Given the description of an element on the screen output the (x, y) to click on. 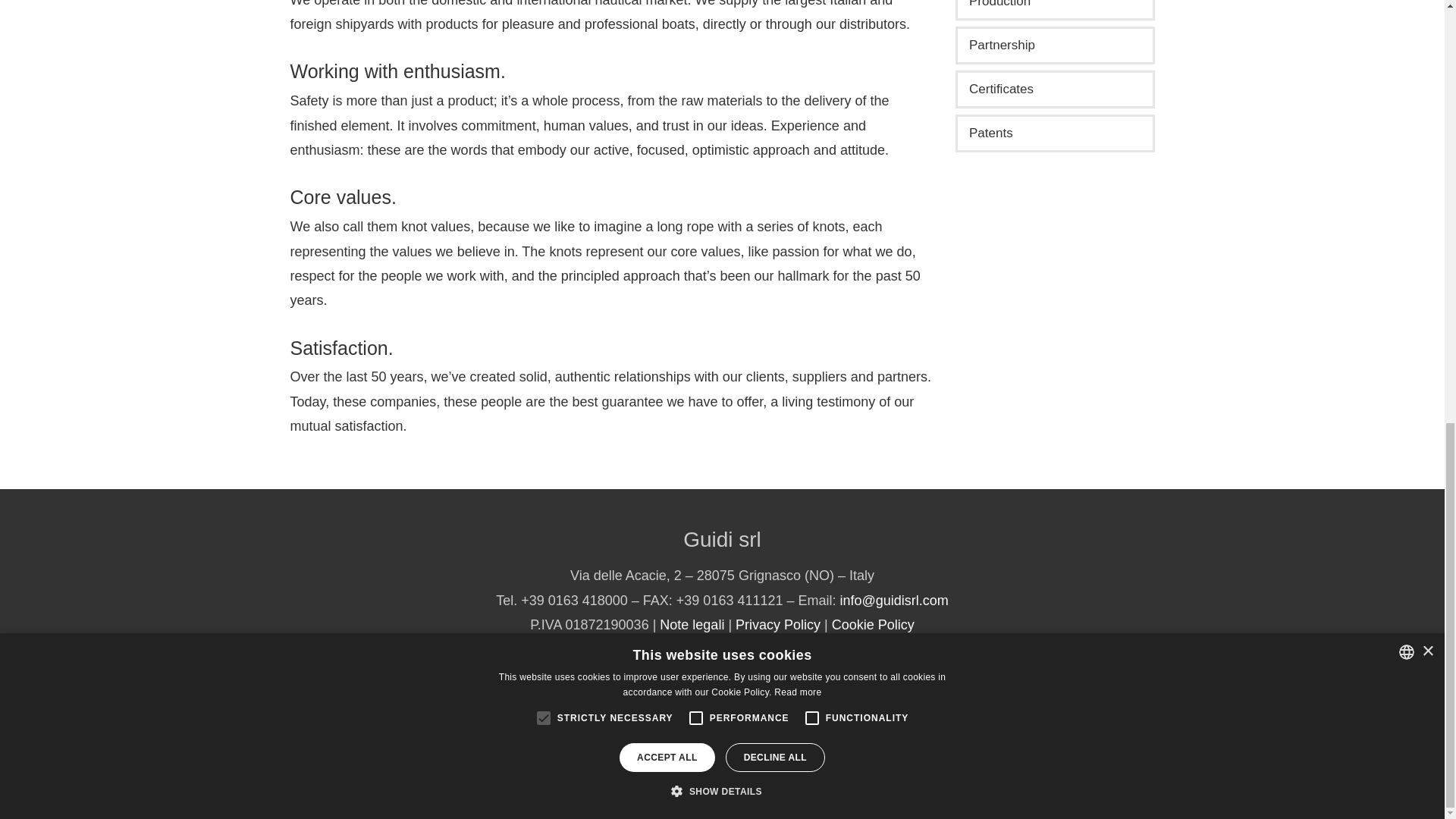
Production (1054, 10)
Note legali (691, 624)
Patents (1054, 133)
Certificates (1054, 89)
NEWSLETTER (721, 666)
Partnership (1054, 45)
Cookie Policy (872, 624)
Privacy Policy (778, 624)
